Given the description of an element on the screen output the (x, y) to click on. 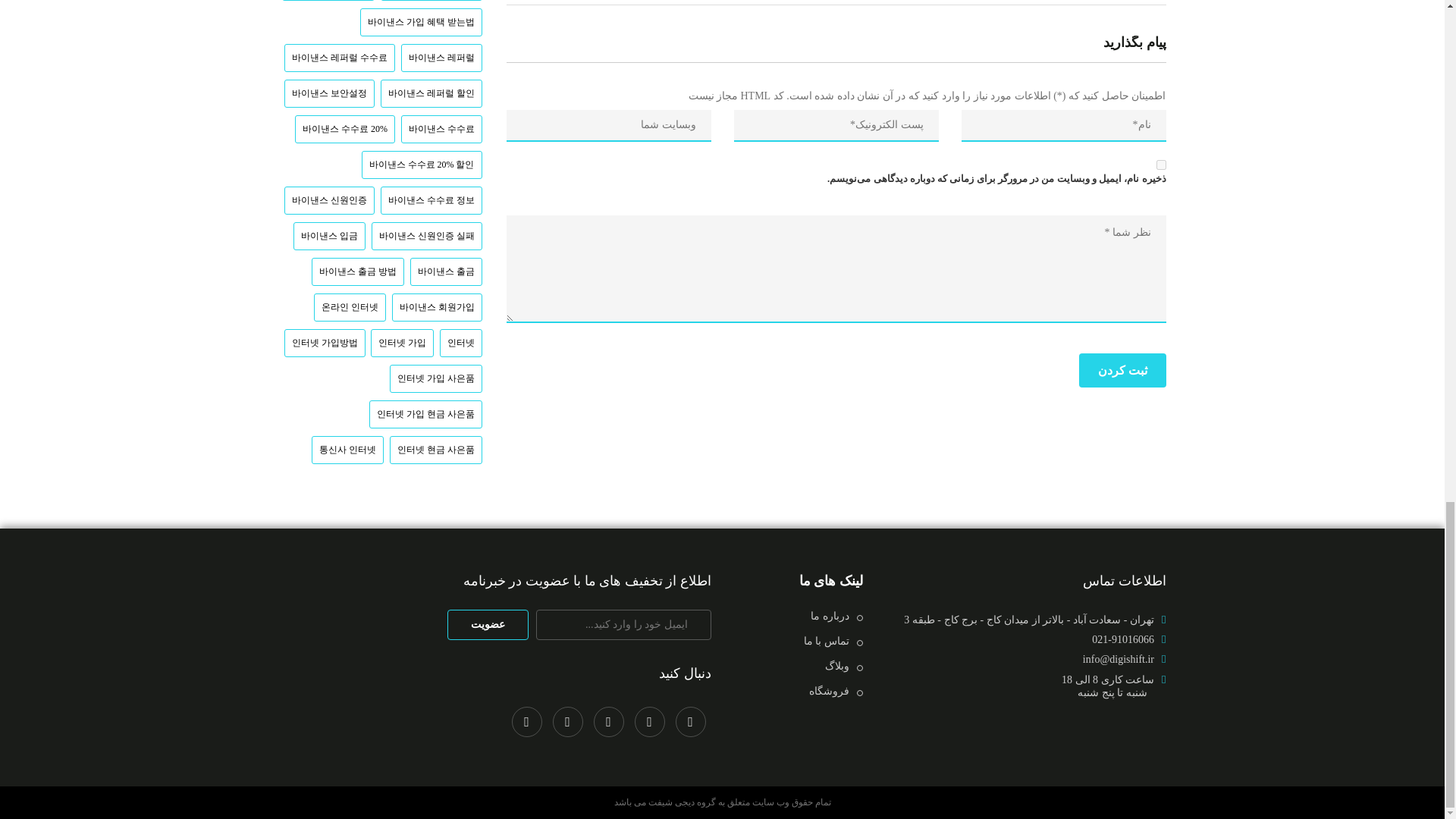
yes (1161, 164)
